Given the description of an element on the screen output the (x, y) to click on. 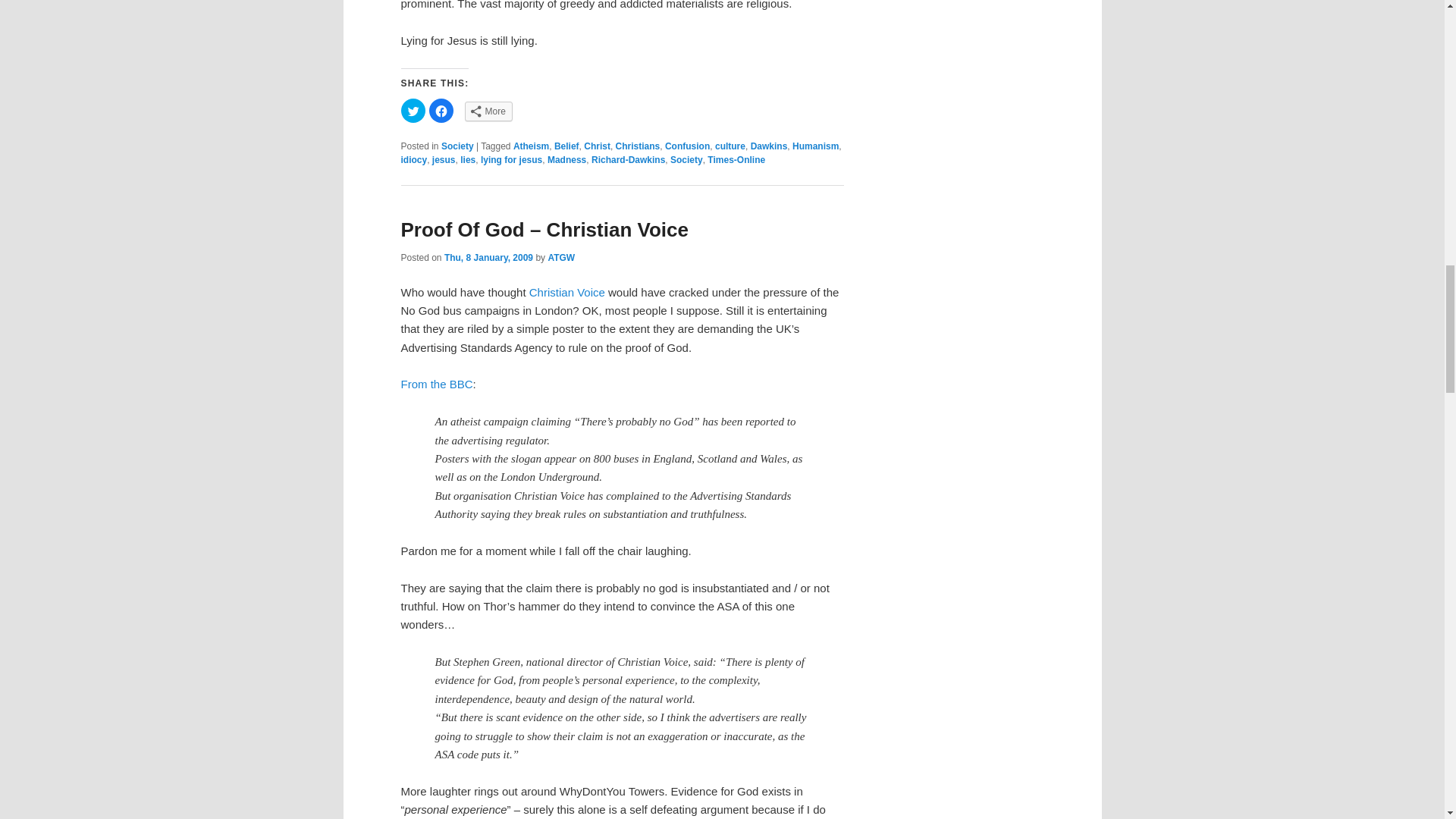
idiocy (413, 159)
Dawkins (769, 145)
Click to share on Twitter (412, 110)
lies (468, 159)
lying for jesus (510, 159)
culture (729, 145)
21:55 (488, 257)
Richard-Dawkins (628, 159)
Thu, 8 January, 2009 (488, 257)
Christians (638, 145)
Confusion (687, 145)
More (488, 111)
Humanism (815, 145)
Belief (566, 145)
Atheism (530, 145)
